Given the description of an element on the screen output the (x, y) to click on. 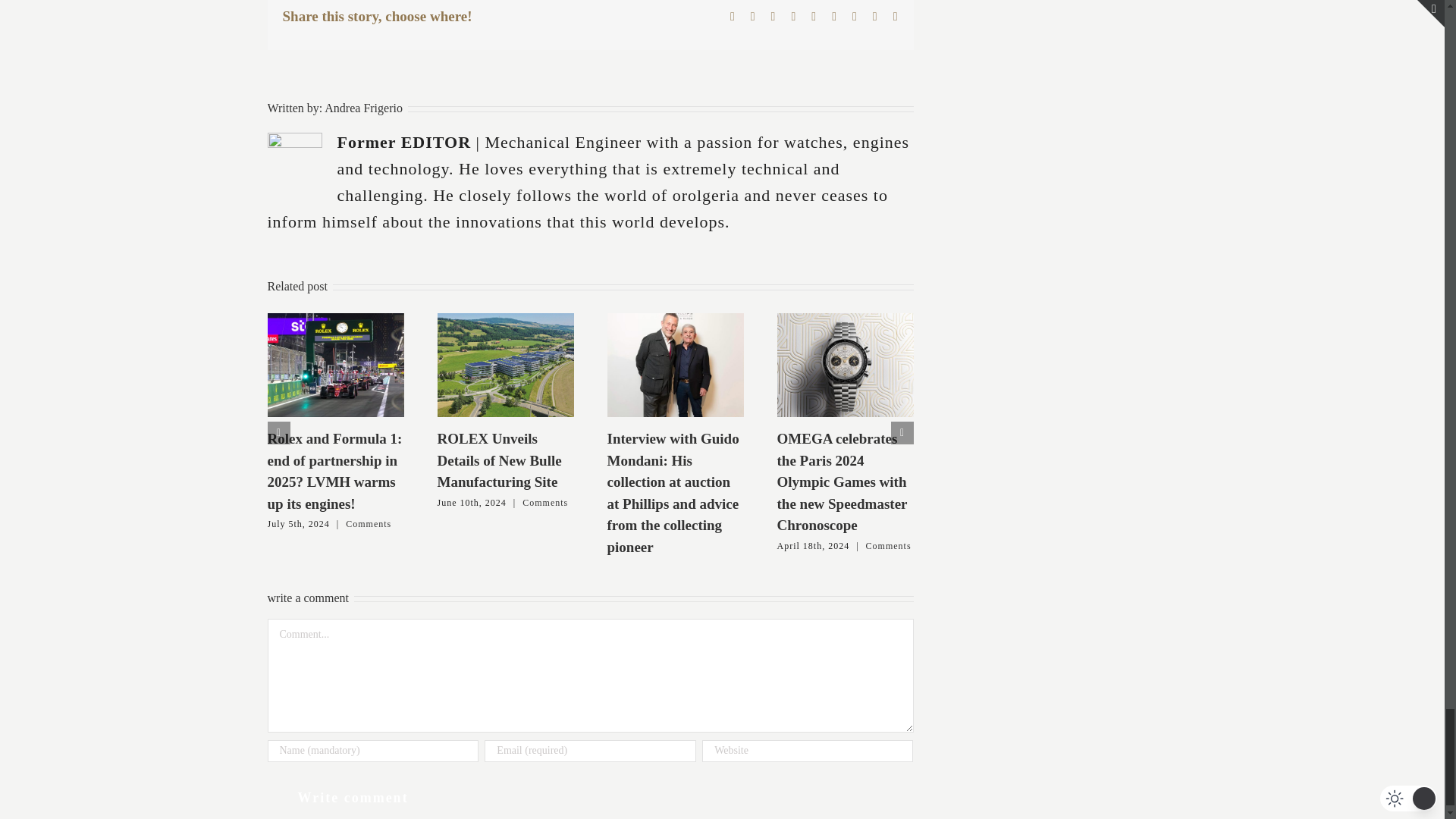
Articles written by Andrea Frigerio (363, 107)
